Given the description of an element on the screen output the (x, y) to click on. 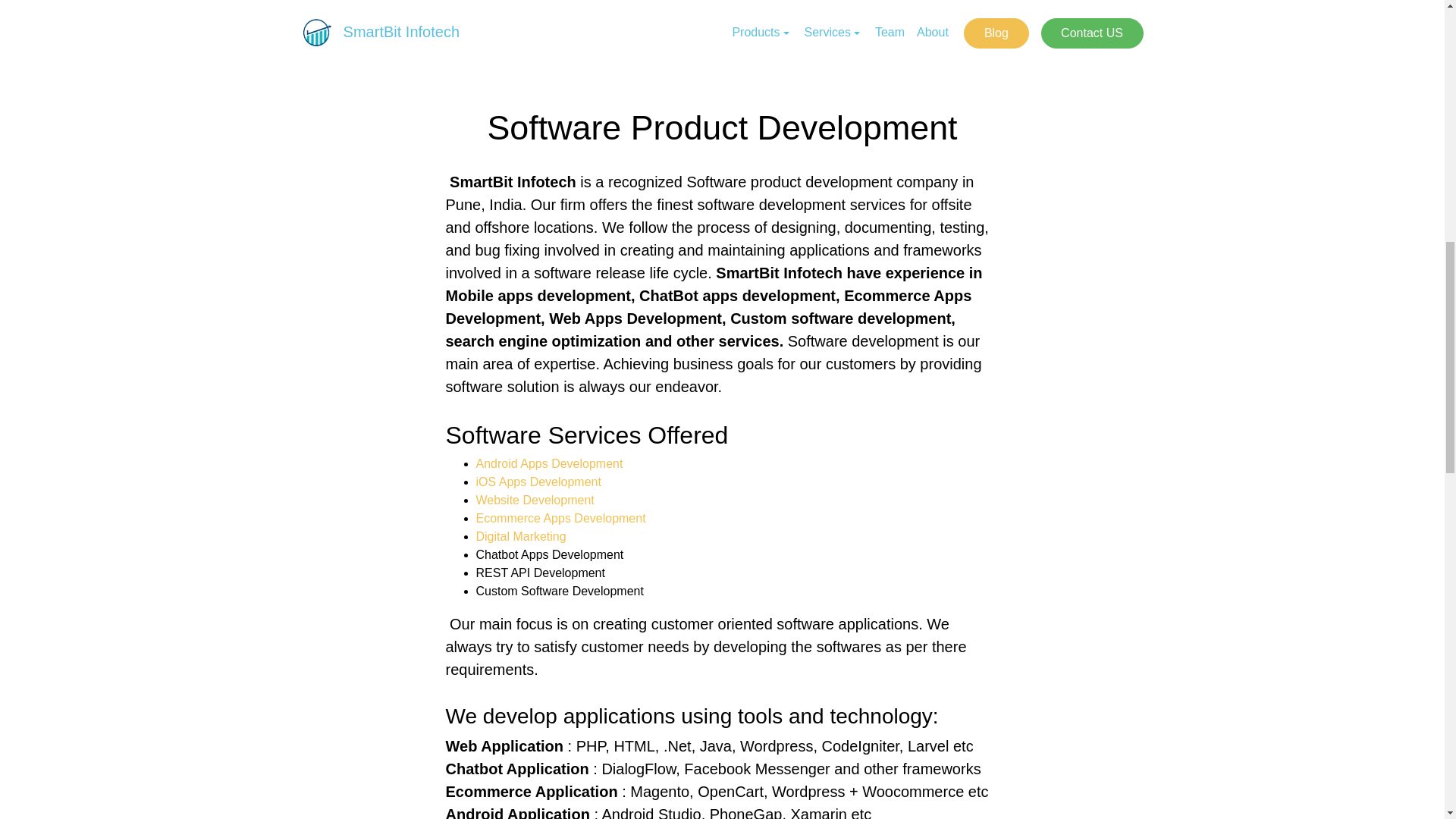
Digital Marketing (521, 535)
iOS Apps Development (538, 481)
Ecommerce Apps Development (561, 517)
Android Apps Development (549, 463)
Website Development (535, 499)
